Given the description of an element on the screen output the (x, y) to click on. 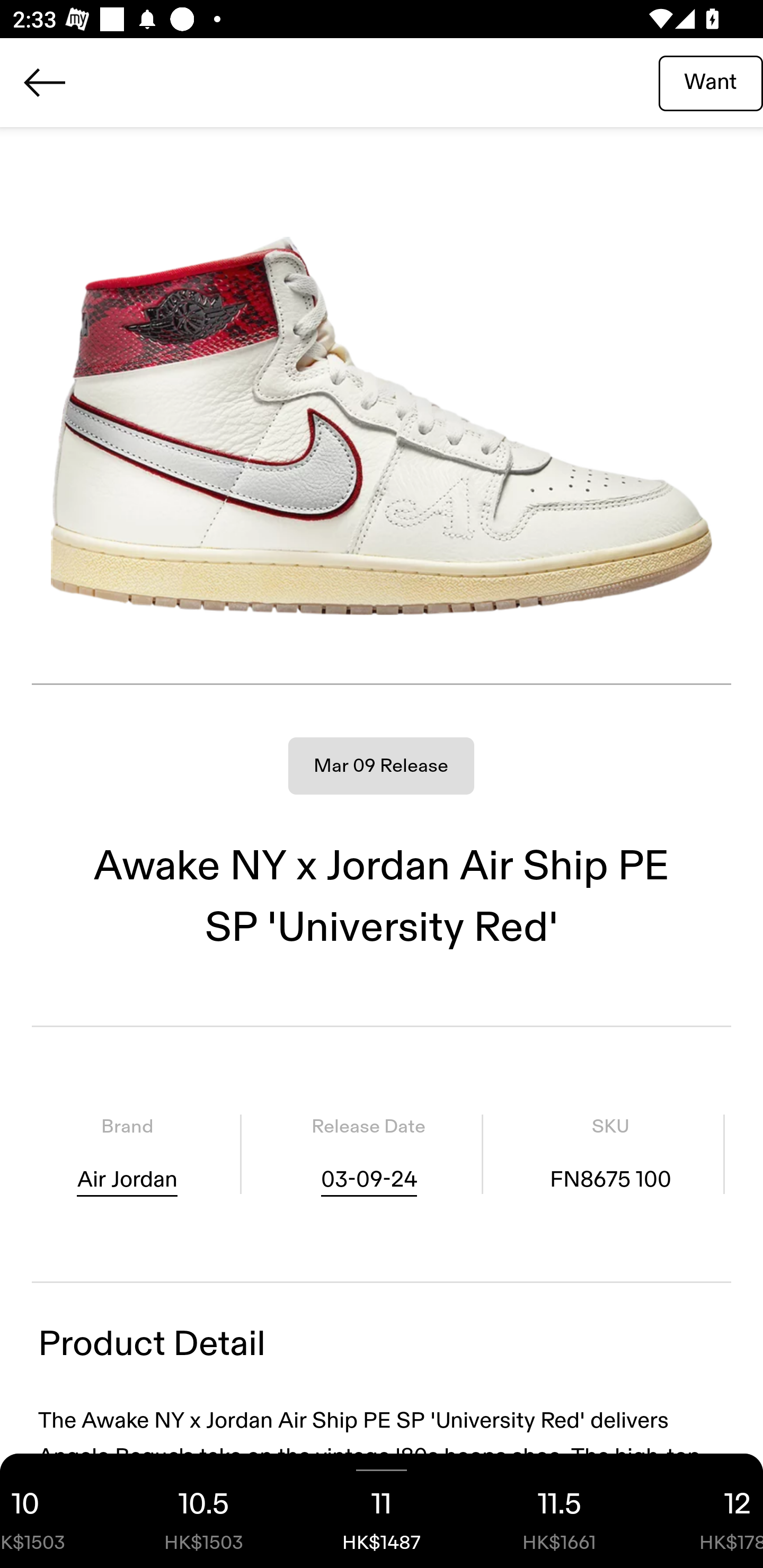
Want (710, 82)
Brand Air Jordan (126, 1153)
Release Date 03-09-24 (368, 1153)
SKU FN8675 100 (609, 1153)
10 HK$1503 (57, 1510)
10.5 HK$1503 (203, 1510)
11 HK$1487 (381, 1510)
11.5 HK$1661 (559, 1510)
12 HK$1787 (705, 1510)
